Given the description of an element on the screen output the (x, y) to click on. 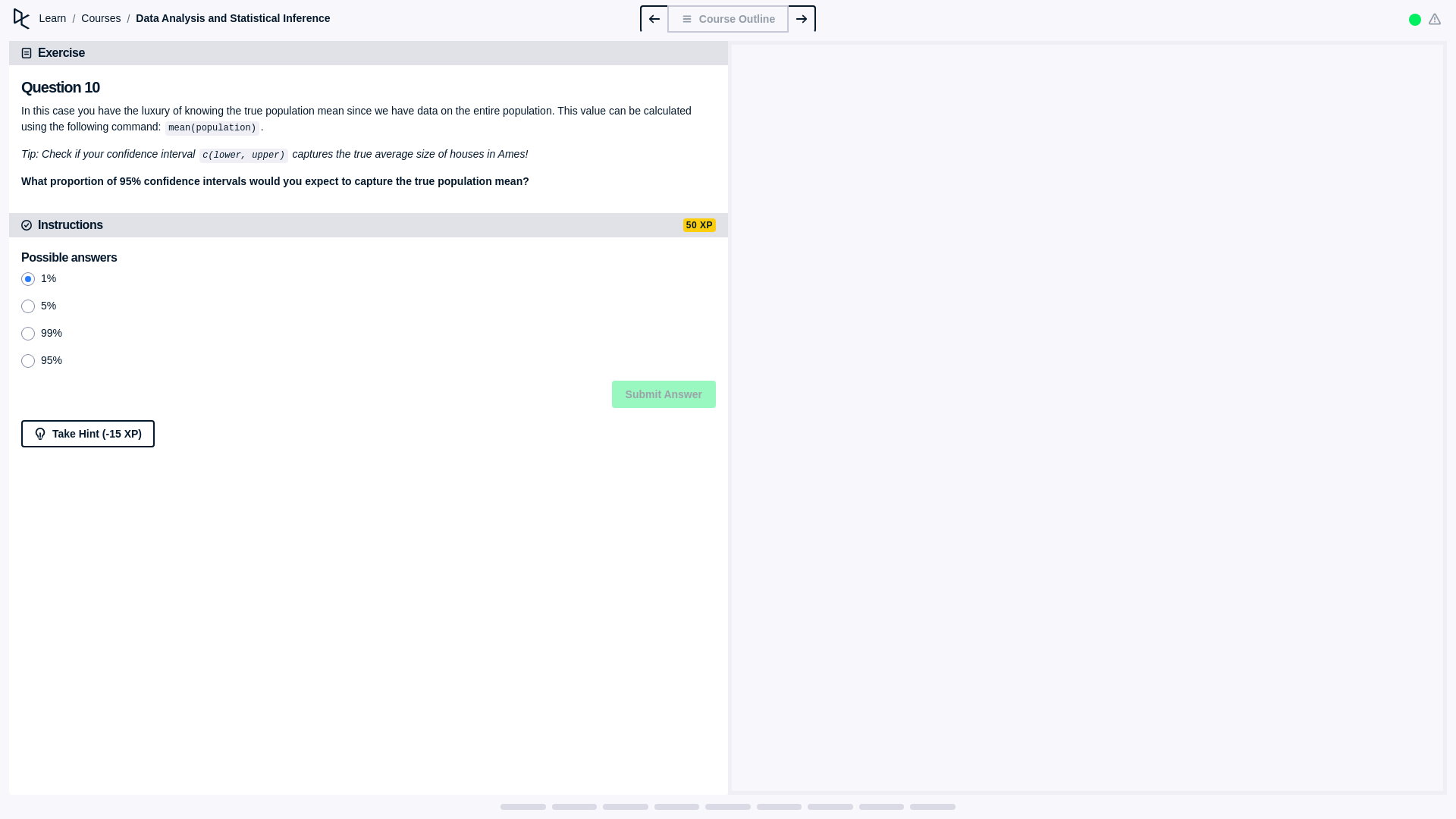
Submit Answer (663, 393)
Learn (52, 18)
Course Outline (727, 18)
Courses (100, 18)
Data Analysis and Statistical Inference (232, 18)
